Given the description of an element on the screen output the (x, y) to click on. 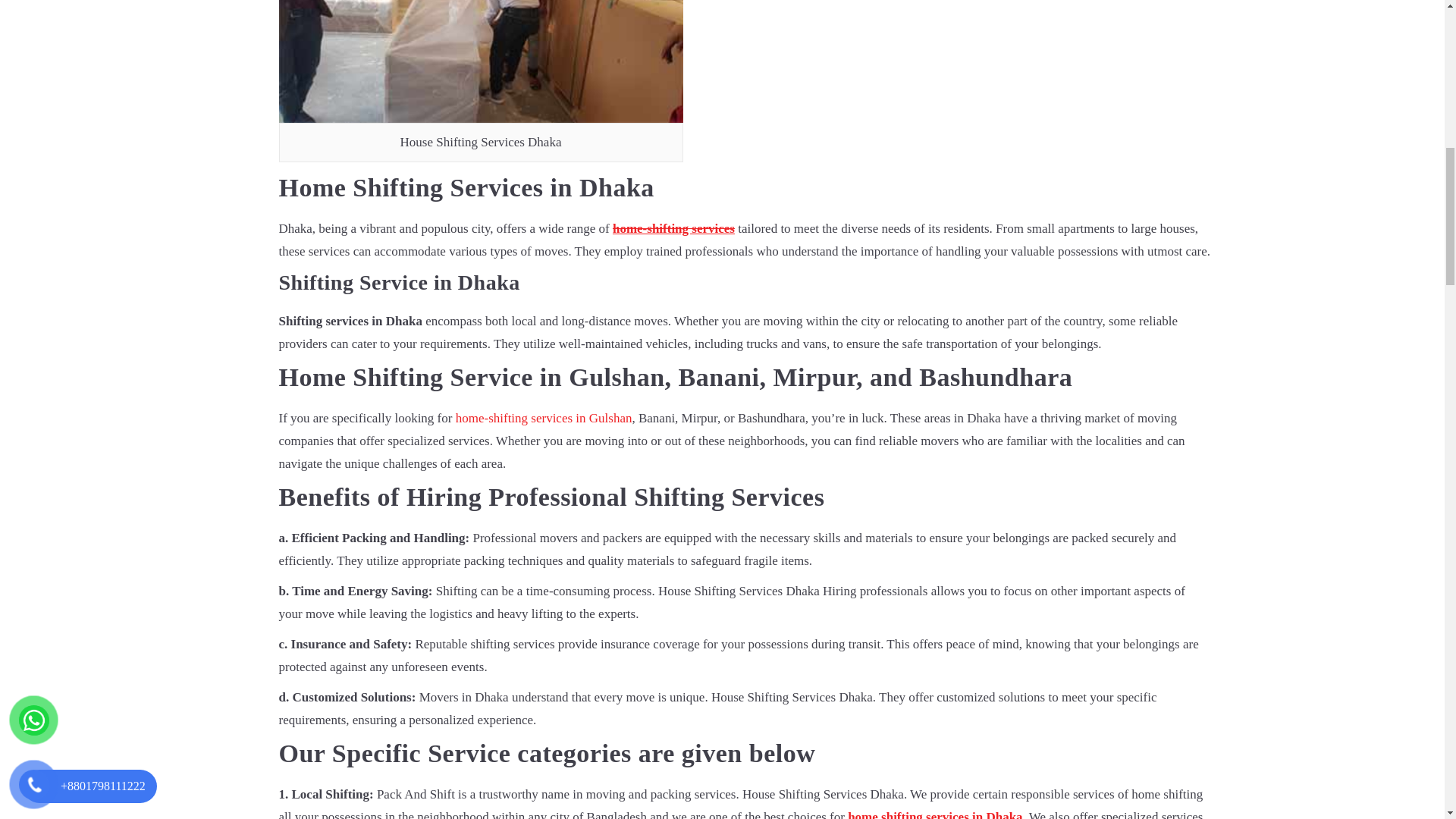
home-shifting services in Gulshan (543, 418)
home-shifting services (673, 228)
home shifting services in Dhaka (934, 814)
